Given the description of an element on the screen output the (x, y) to click on. 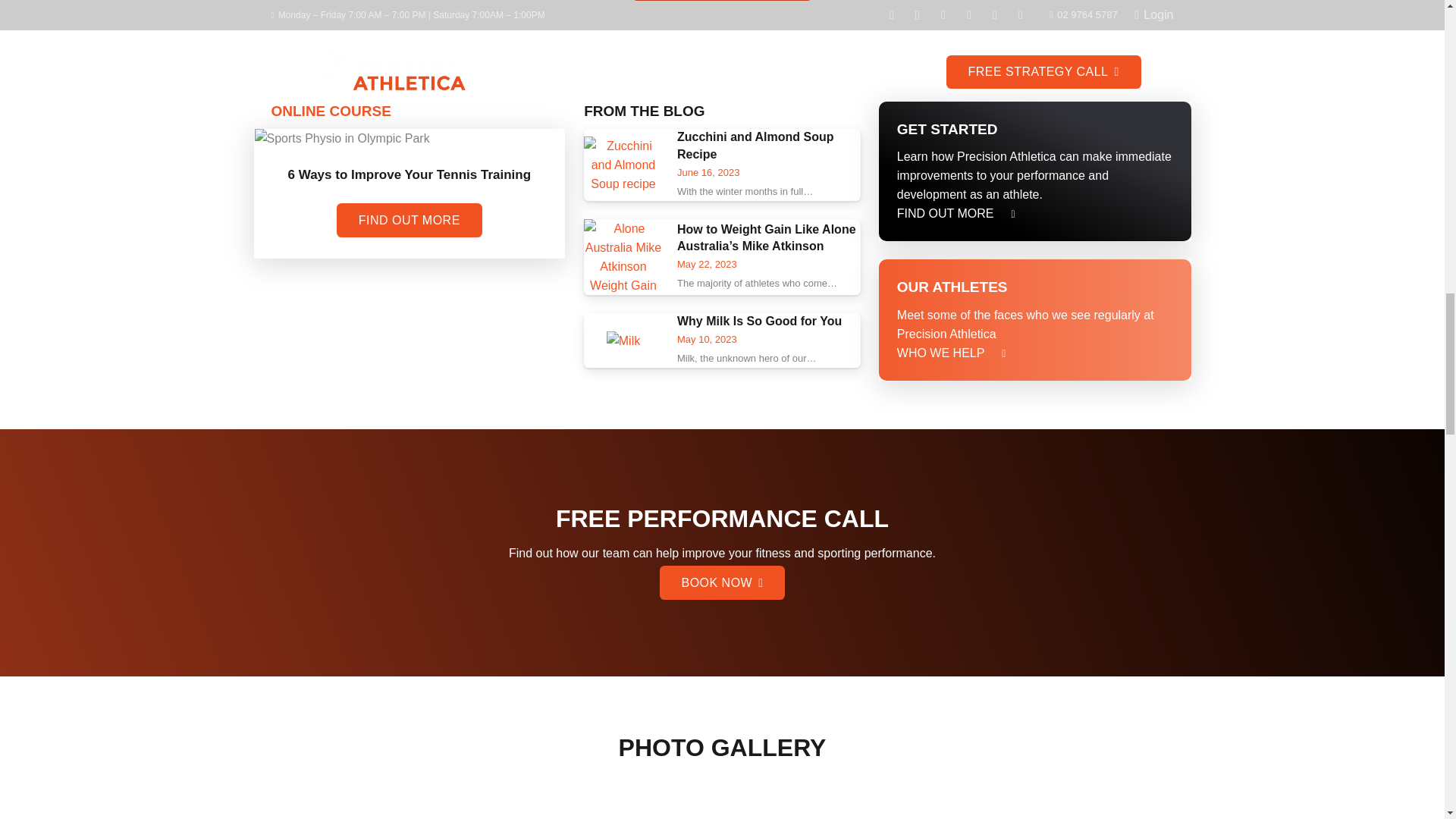
Membership (945, 212)
Membership (1006, 212)
